Given the description of an element on the screen output the (x, y) to click on. 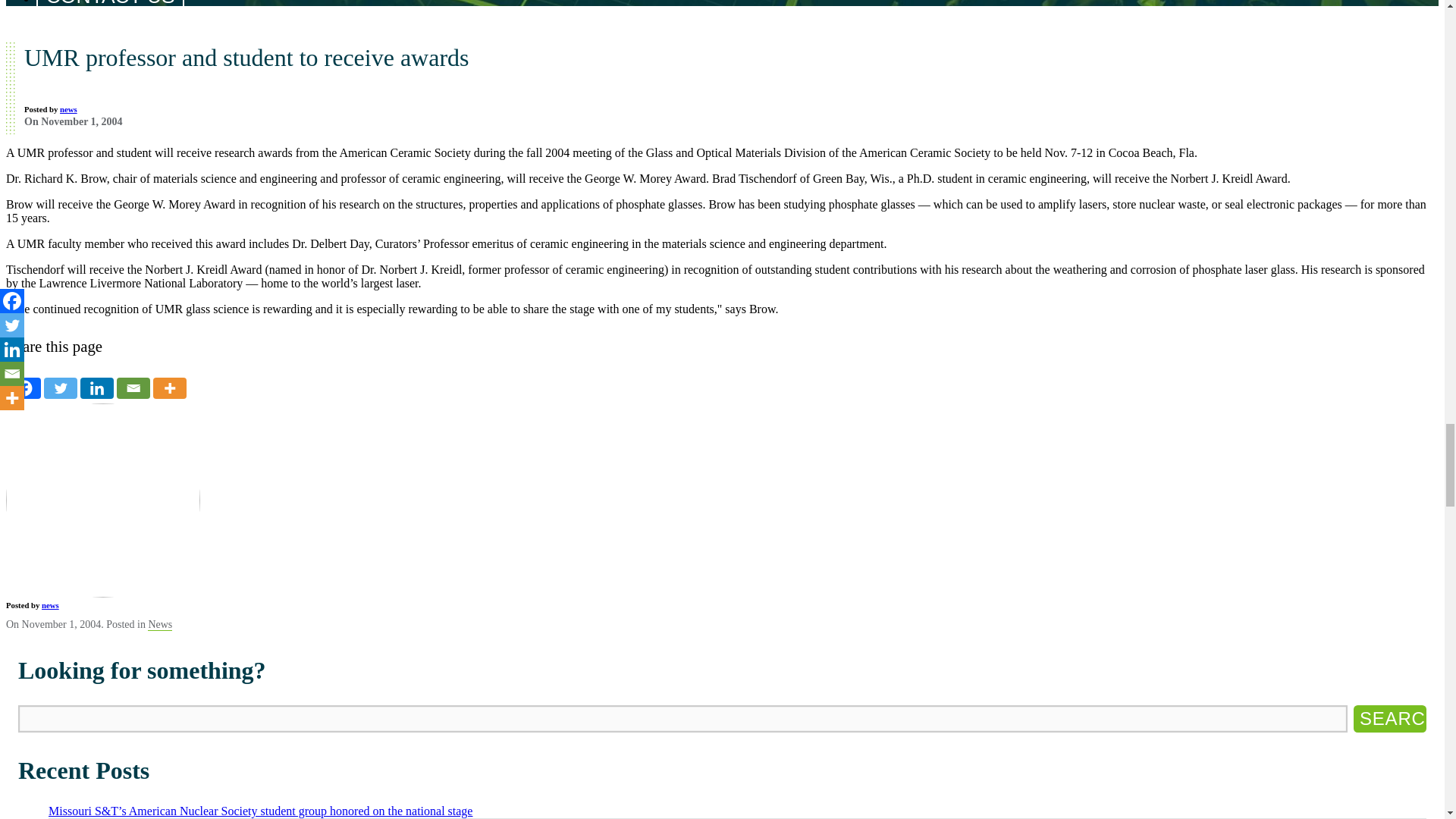
Email (132, 387)
More (169, 387)
Twitter (60, 387)
Facebook (23, 387)
Search (1390, 718)
Linkedin (96, 387)
Posts by news (50, 604)
Posts by news (68, 108)
